Given the description of an element on the screen output the (x, y) to click on. 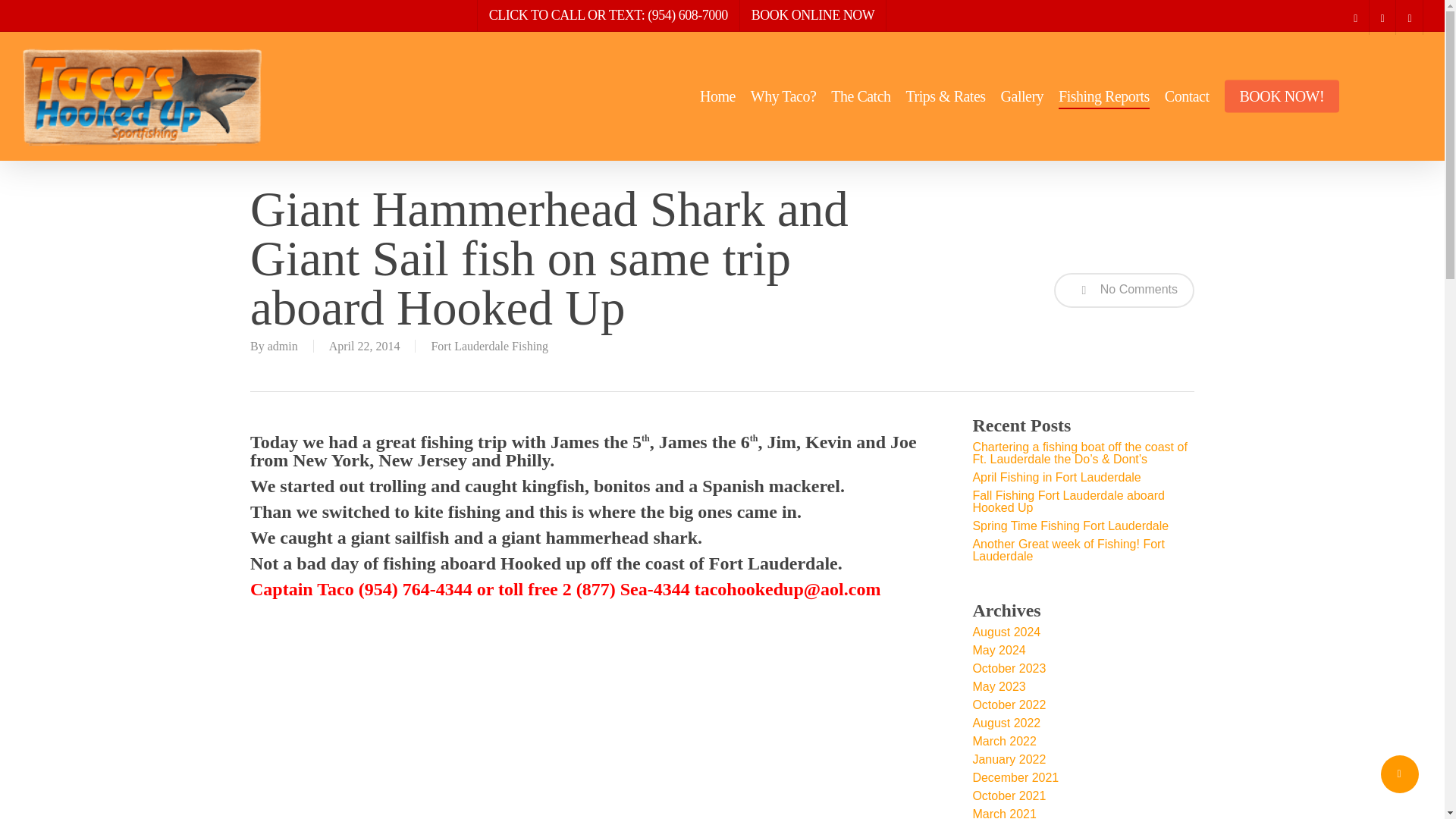
BOOK ONLINE NOW (812, 15)
Contact (1186, 96)
Gallery (1022, 96)
August 2024 (1082, 632)
The Catch (860, 96)
admin (282, 345)
Fort Lauderdale Fishing (489, 345)
Fishing Reports (1104, 96)
Another Great week of Fishing! Fort Lauderdale (1082, 550)
May 2024 (1082, 650)
